Given the description of an element on the screen output the (x, y) to click on. 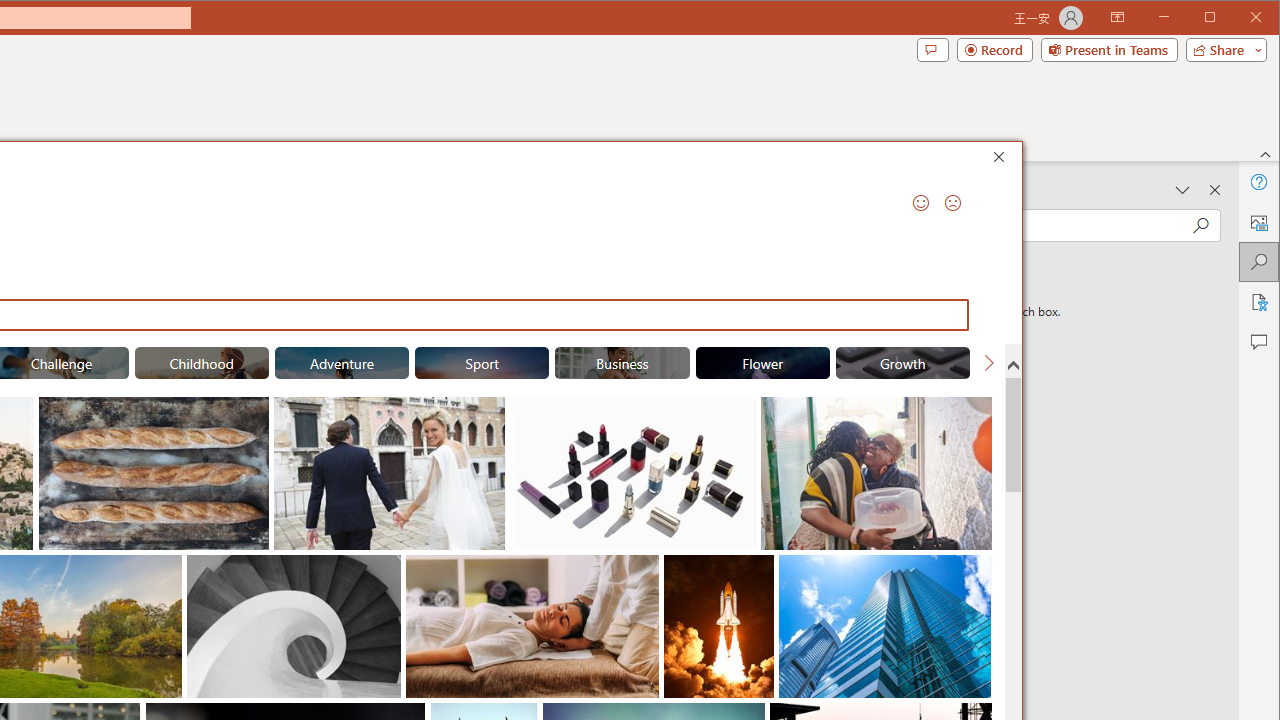
Thumbnail (977, 569)
Send a Smile (920, 202)
"Flower" Stock Images. (762, 362)
"Adventure" Stock Images. (342, 362)
Alt Text (1258, 221)
